Given the description of an element on the screen output the (x, y) to click on. 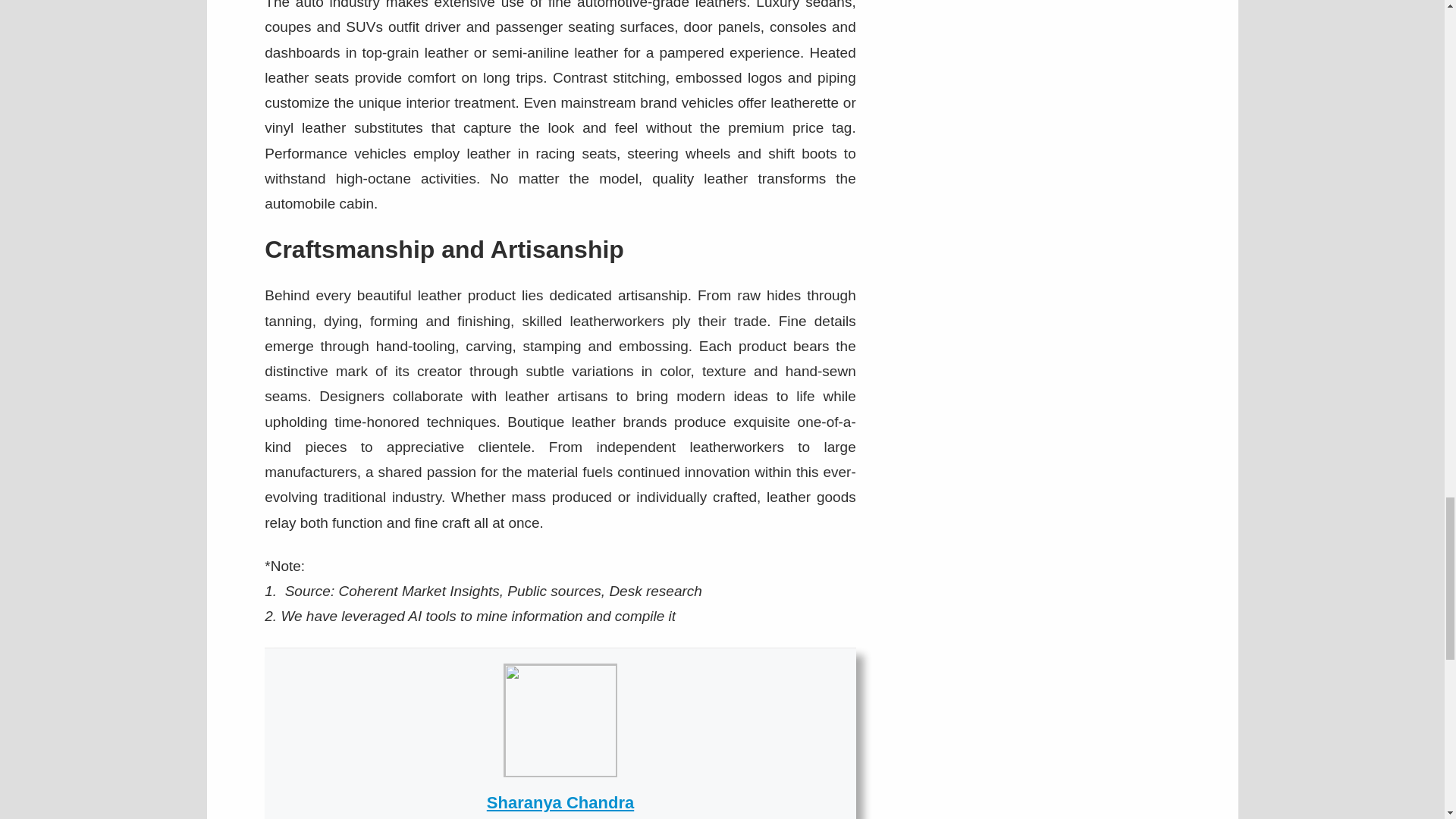
Sharanya Chandra (559, 802)
